Given the description of an element on the screen output the (x, y) to click on. 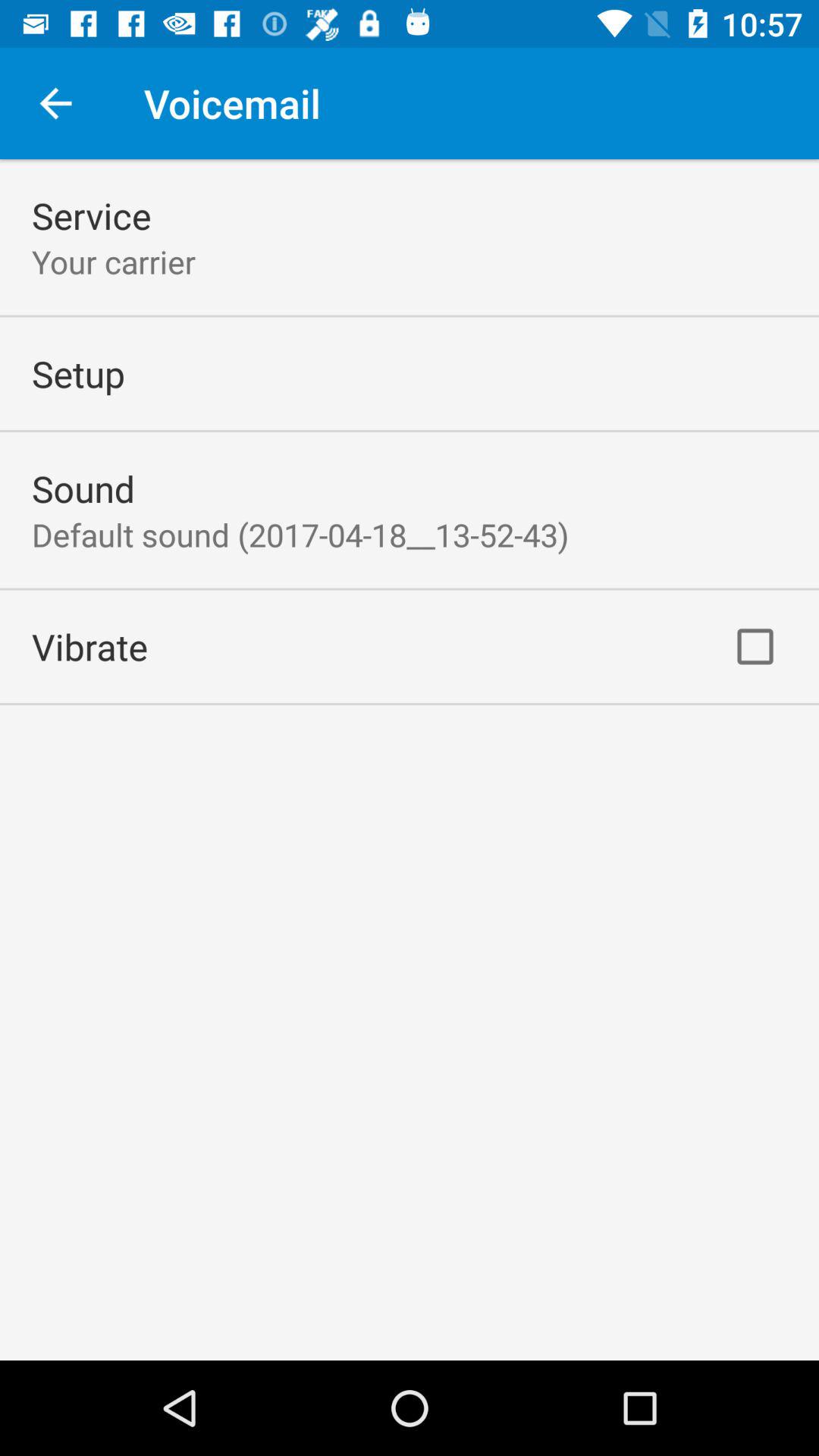
press the item below the default sound 2017 item (89, 646)
